Given the description of an element on the screen output the (x, y) to click on. 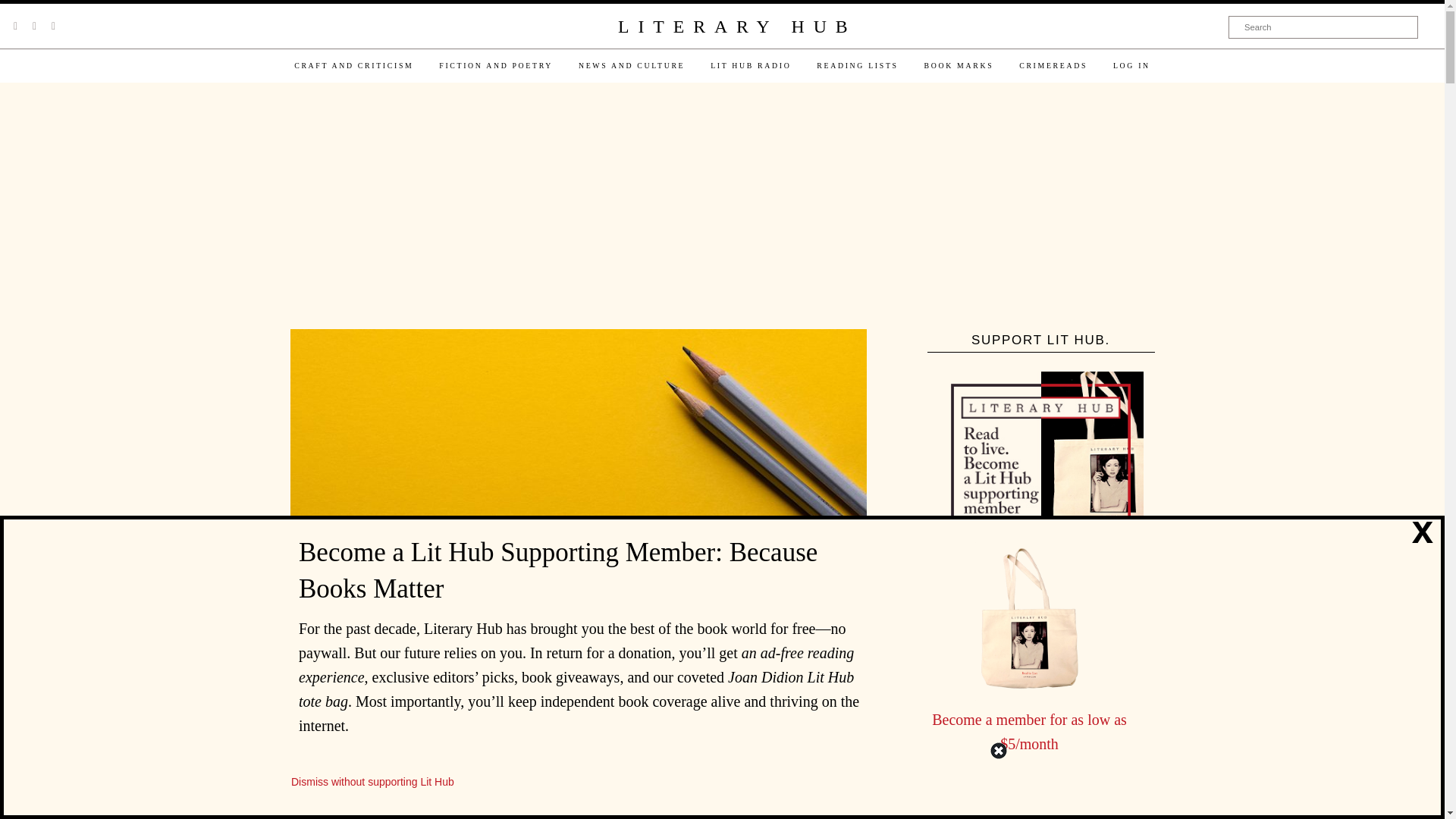
3rd party ad content (1040, 816)
CRAFT AND CRITICISM (353, 65)
Search (1323, 26)
Support Lit Hub. (1040, 473)
NEWS AND CULTURE (631, 65)
LITERARY HUB (736, 26)
FICTION AND POETRY (496, 65)
3rd party ad content (721, 207)
